Given the description of an element on the screen output the (x, y) to click on. 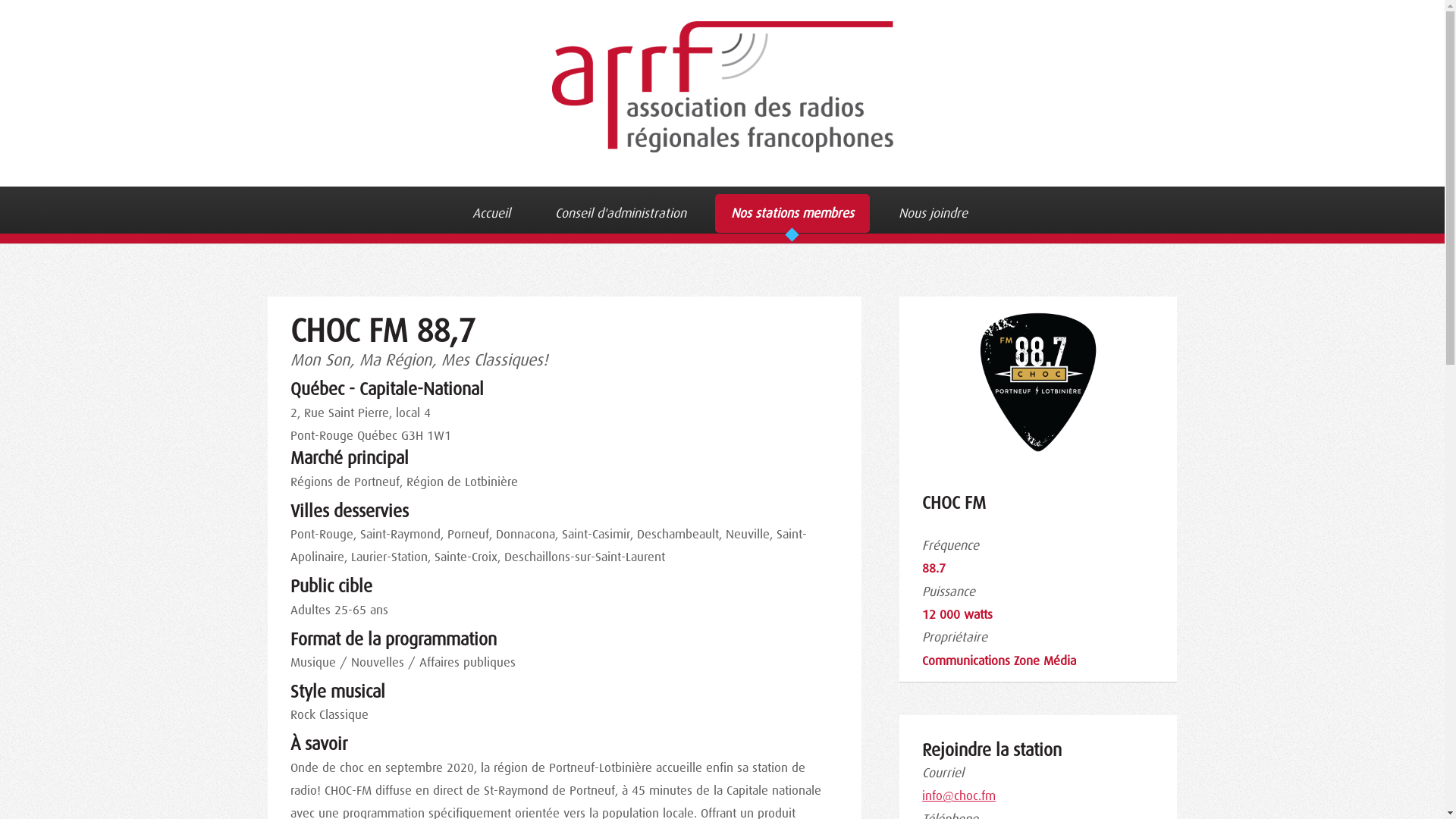
Conseil d'administration Element type: text (620, 213)
Nous joindre Element type: text (932, 213)
Accueil Element type: text (492, 213)
Nos stations membres Element type: text (792, 213)
info@choc.fm Element type: text (958, 795)
